Given the description of an element on the screen output the (x, y) to click on. 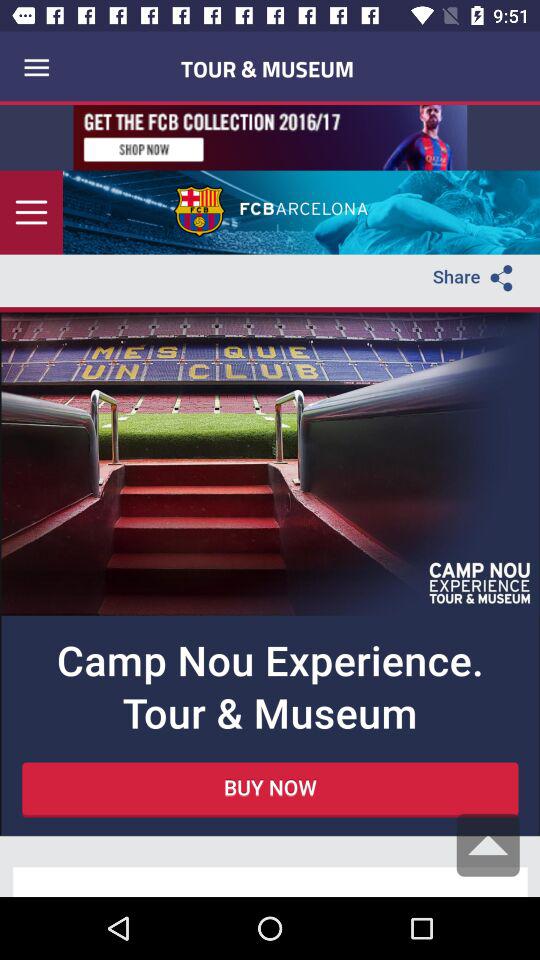
seeing in the parargraph (270, 501)
